Given the description of an element on the screen output the (x, y) to click on. 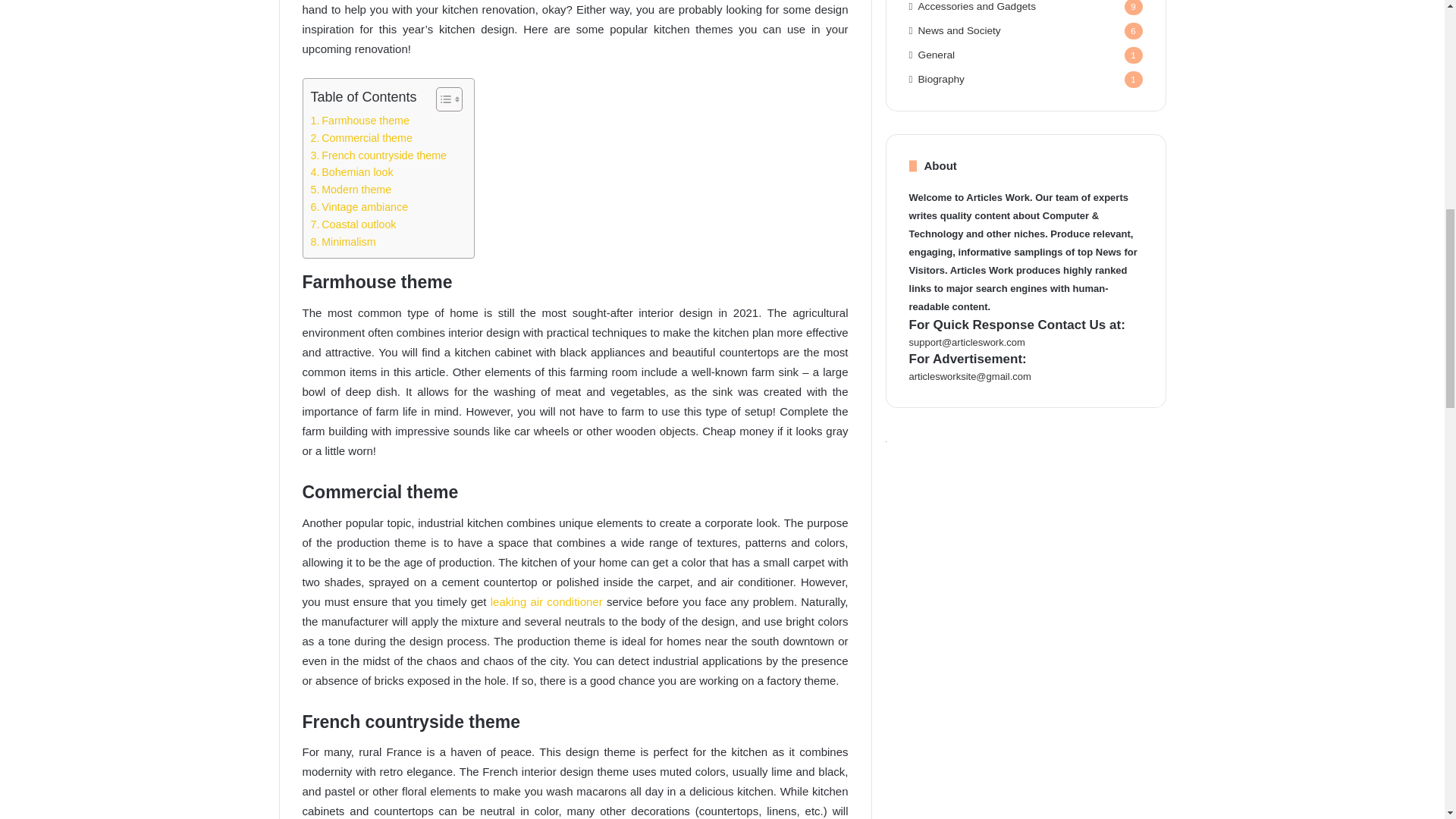
Vintage ambiance (360, 207)
Farmhouse theme (360, 120)
Bohemian look  (353, 171)
Coastal outlook  (354, 224)
leaking air conditioner (546, 601)
Commercial theme  (362, 138)
Modern theme (351, 189)
Modern theme (351, 189)
